Given the description of an element on the screen output the (x, y) to click on. 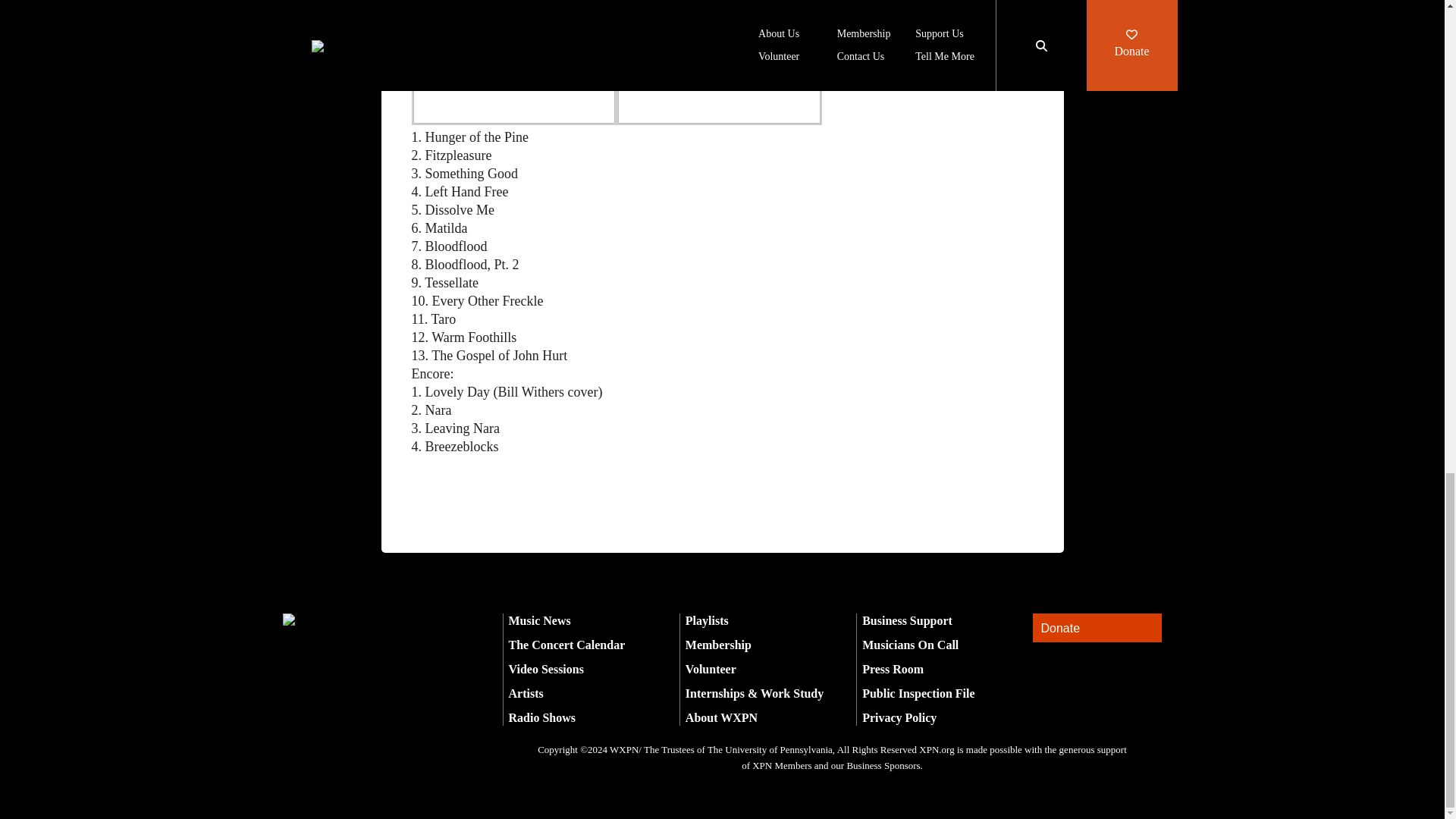
Radio Shows (541, 717)
Public Inspection File (917, 693)
Video Sessions (545, 668)
Business Support (906, 620)
Playlists (707, 620)
About WXPN (721, 717)
Press Room (892, 668)
Musicians On Call (909, 644)
Artists (525, 693)
Volunteer (710, 668)
